Given the description of an element on the screen output the (x, y) to click on. 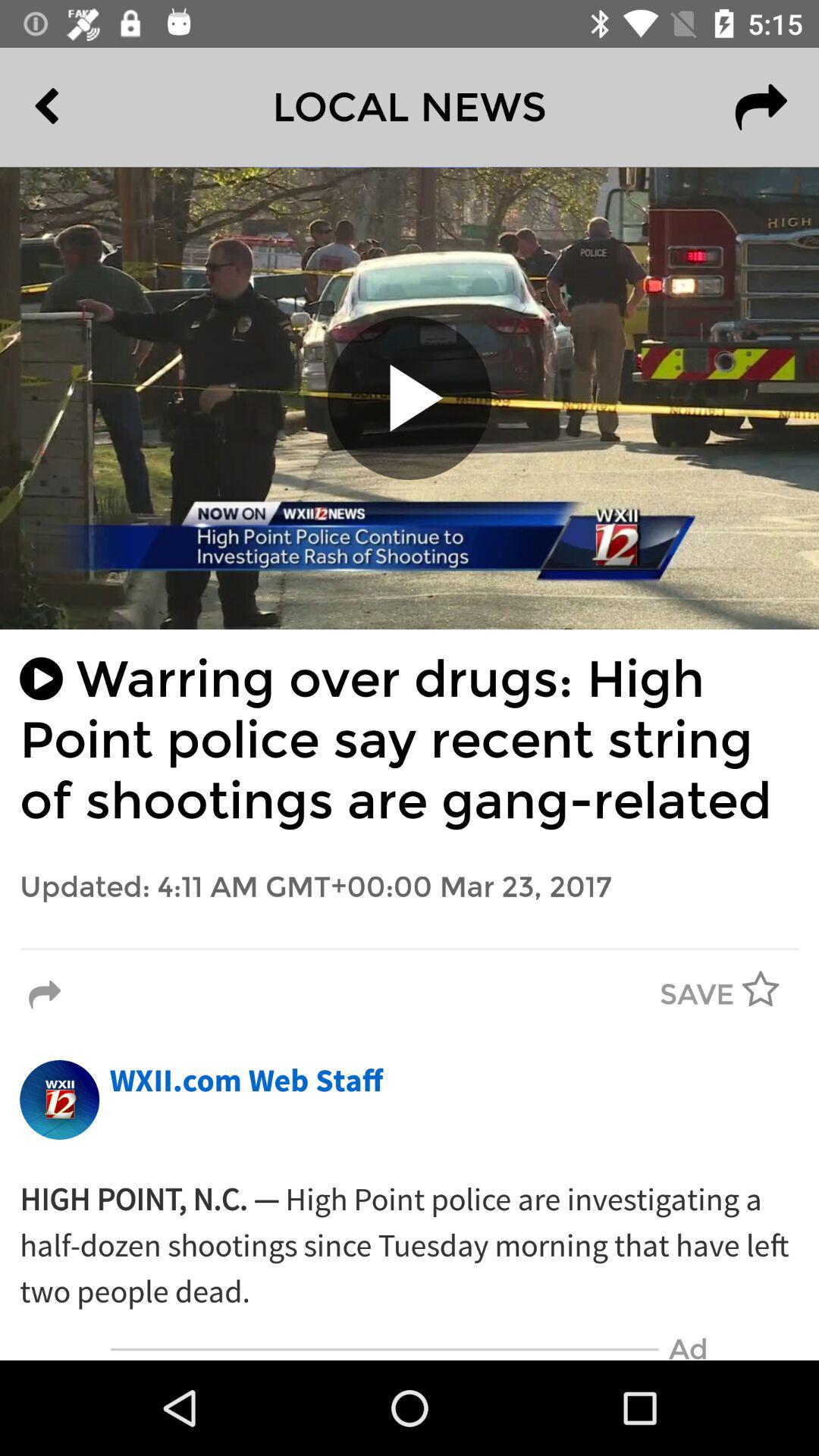
select the warring over drugs icon (409, 739)
